Given the description of an element on the screen output the (x, y) to click on. 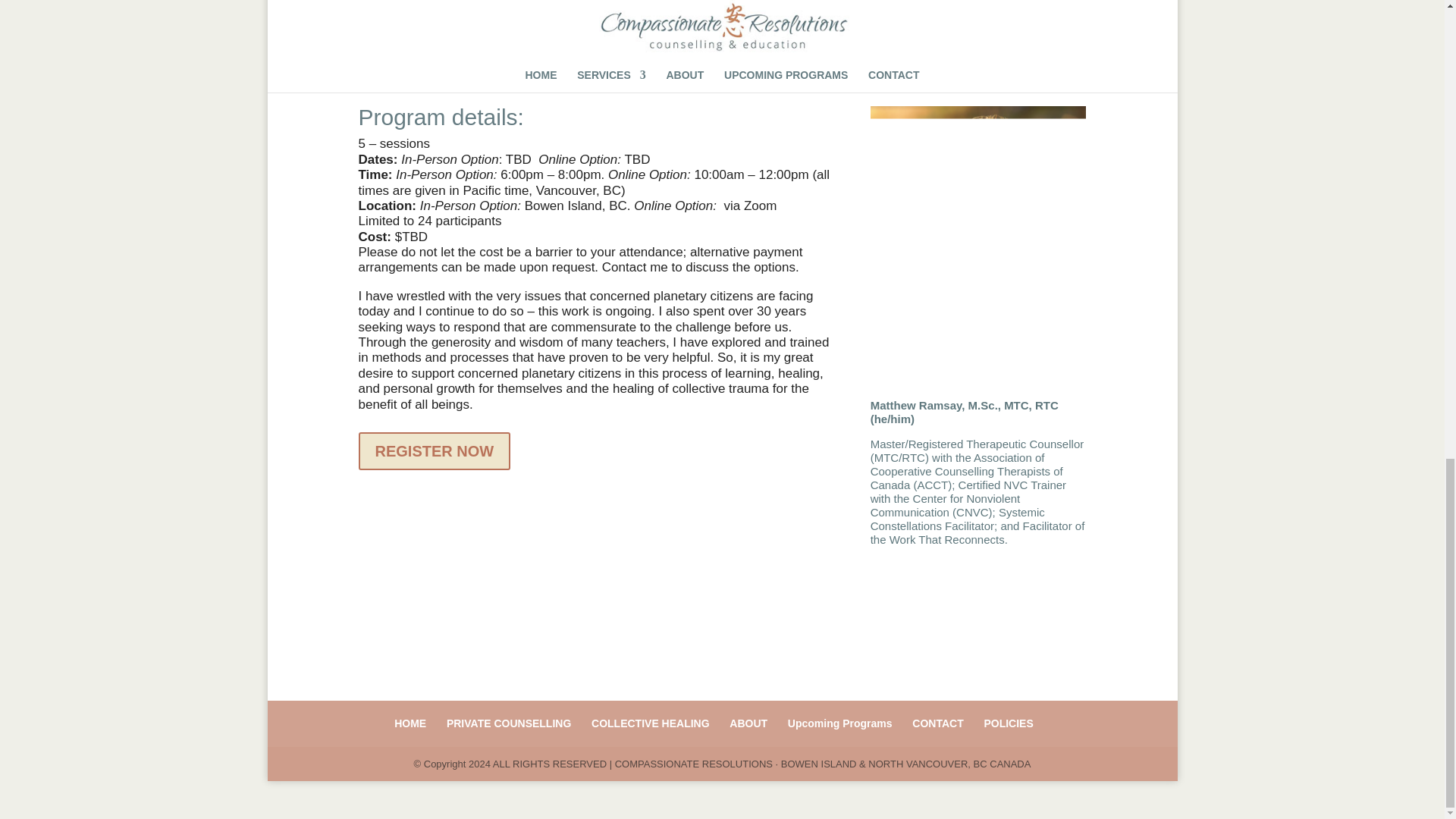
CONTACT (937, 723)
COLLECTIVE HEALING (650, 723)
Upcoming Programs (839, 723)
HOME (410, 723)
ABOUT (748, 723)
POLICIES (1008, 723)
PRIVATE COUNSELLING (508, 723)
REGISTER NOW (434, 451)
